Given the description of an element on the screen output the (x, y) to click on. 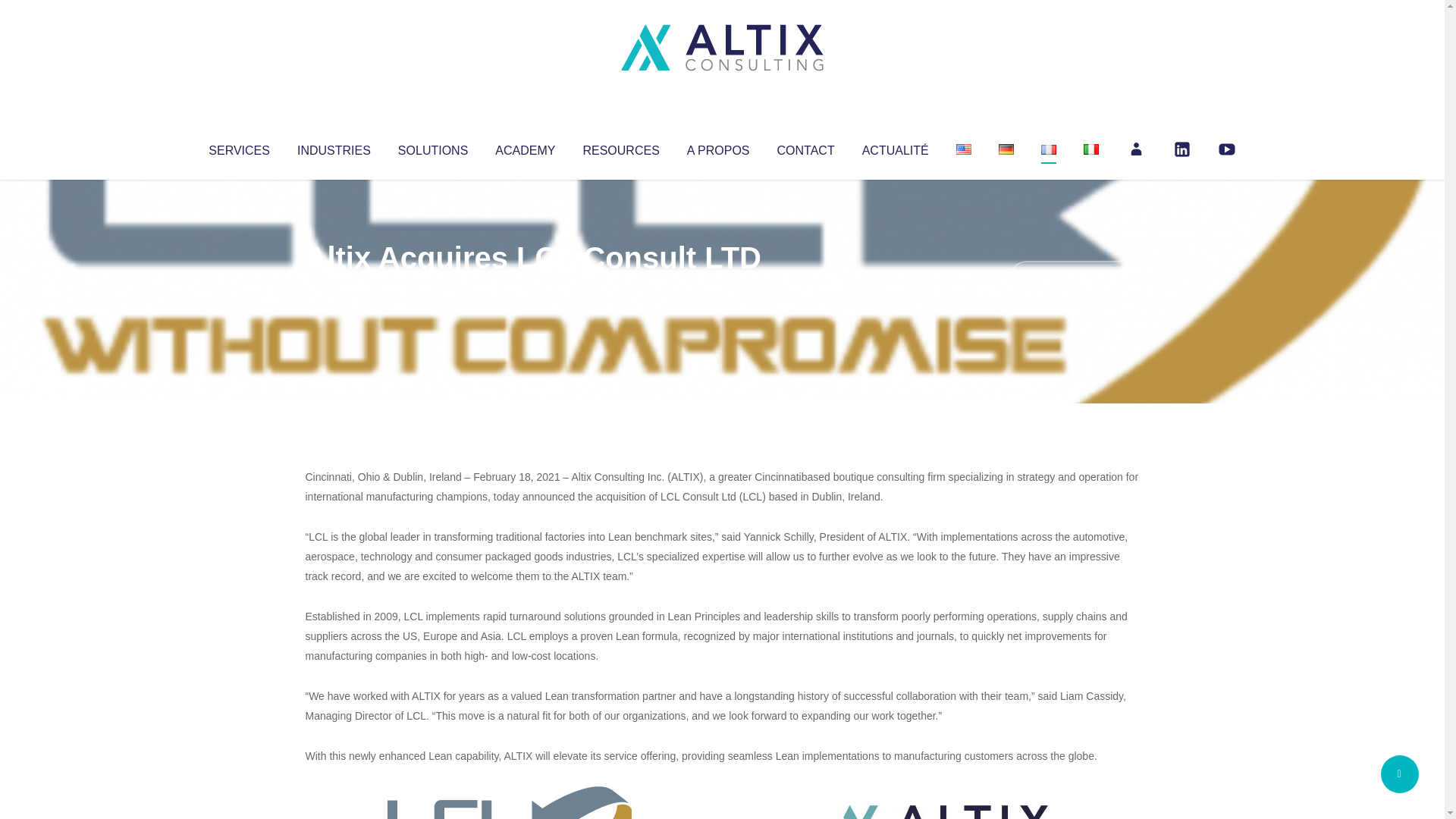
Uncategorized (530, 287)
A PROPOS (718, 146)
Altix (333, 287)
No Comments (1073, 278)
Articles par Altix (333, 287)
ACADEMY (524, 146)
RESOURCES (620, 146)
INDUSTRIES (334, 146)
SERVICES (238, 146)
SOLUTIONS (432, 146)
